Given the description of an element on the screen output the (x, y) to click on. 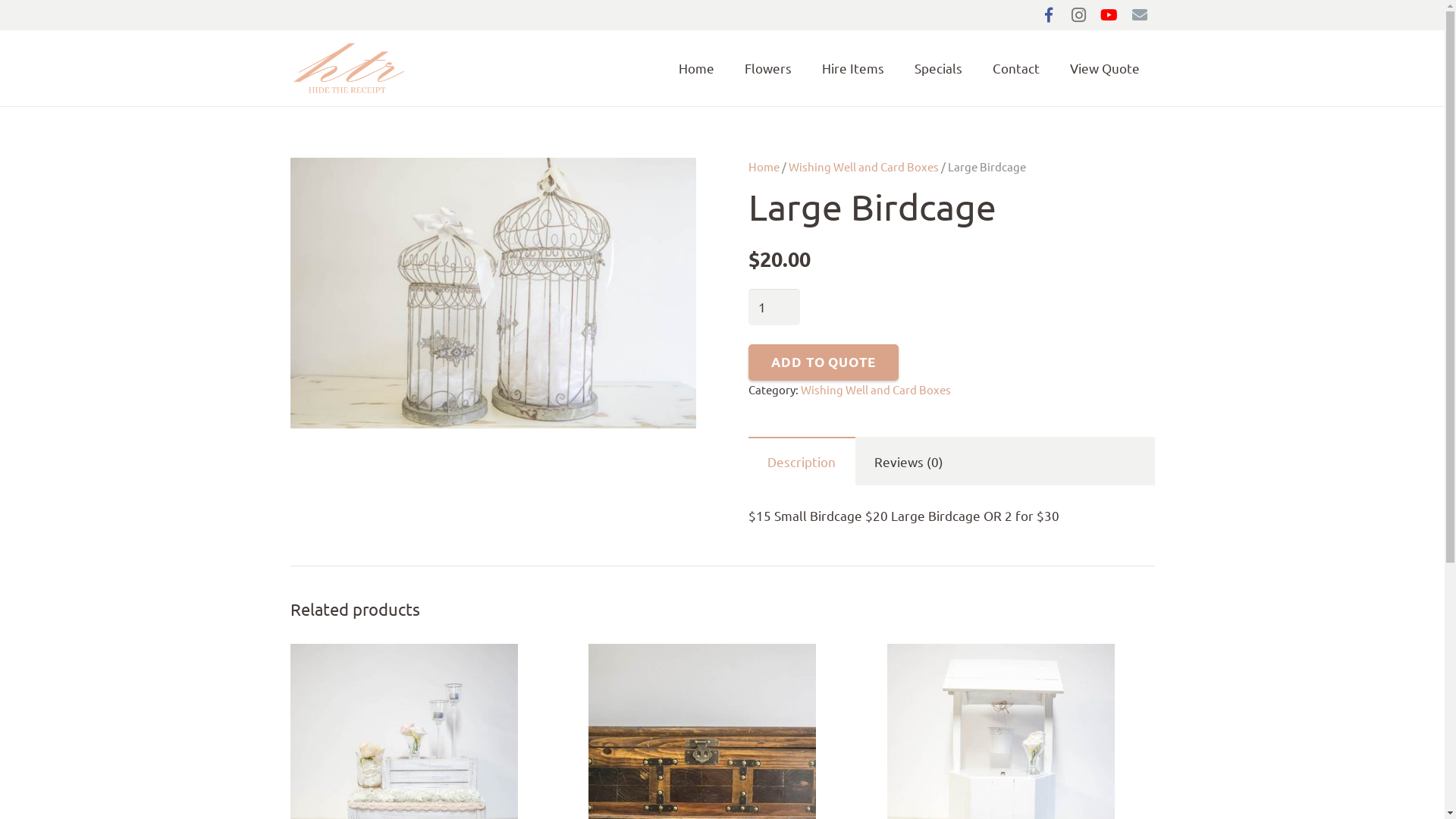
Hire Items Element type: text (852, 68)
Qty Element type: hover (774, 306)
Description Element type: text (801, 461)
Contact Element type: text (1015, 68)
Wishing Well and Card Boxes Element type: text (875, 389)
YouTube Element type: hover (1108, 15)
$15 Small Birdcage $20 Large Birdcage OR 2 for $30 Element type: hover (492, 292)
ADD TO QUOTE Element type: text (823, 362)
Home Element type: text (763, 166)
Flowers Element type: text (767, 68)
Wishing Well and Card Boxes Element type: text (863, 166)
Facebook Element type: hover (1047, 15)
View Quote Element type: text (1104, 68)
Instagram Element type: hover (1078, 15)
Specials Element type: text (938, 68)
Reviews (0) Element type: text (909, 461)
Email Element type: hover (1138, 15)
Home Element type: text (695, 68)
